Given the description of an element on the screen output the (x, y) to click on. 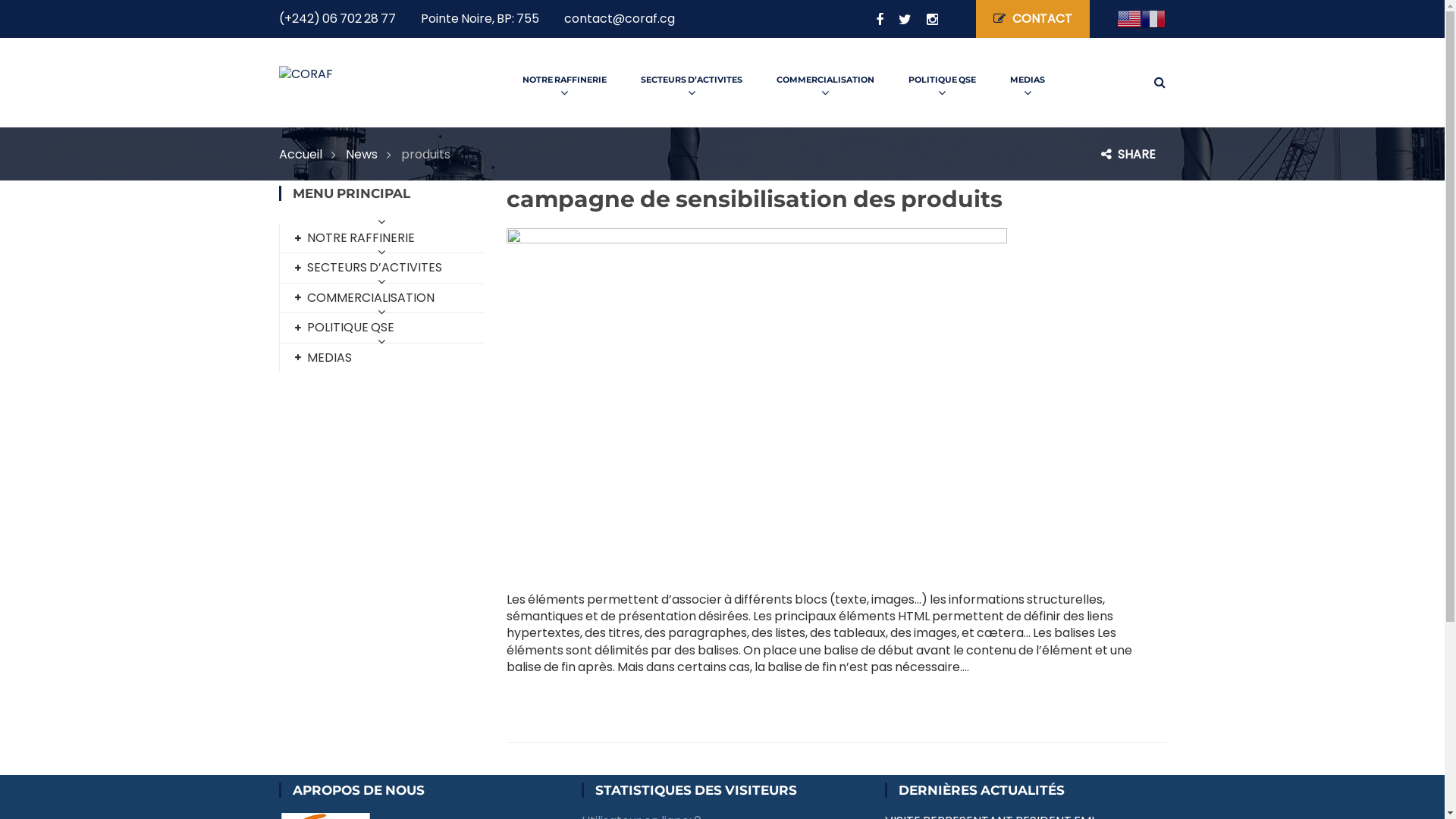
MEDIAS Element type: text (1027, 79)
POLITIQUE QSE Element type: text (343, 326)
CONTACT Element type: text (1032, 18)
Facebook Element type: text (871, 19)
Accueil Element type: text (307, 154)
POLITIQUE QSE Element type: text (941, 79)
English Element type: hover (1129, 18)
COMMERCIALISATION Element type: text (825, 79)
Instagram Element type: text (924, 19)
COMMERCIALISATION Element type: text (363, 297)
NOTRE RAFFINERIE Element type: text (354, 237)
NOTRE RAFFINERIE Element type: text (563, 79)
Recherche Element type: text (51, 18)
CORAF - LA CONGOLAISE DE RAFFINAGE Element type: hover (305, 72)
Twitter Element type: text (897, 19)
MEDIAS Element type: text (322, 357)
campagne de sensibilisation des produits Element type: text (754, 199)
News Element type: text (368, 154)
